Given the description of an element on the screen output the (x, y) to click on. 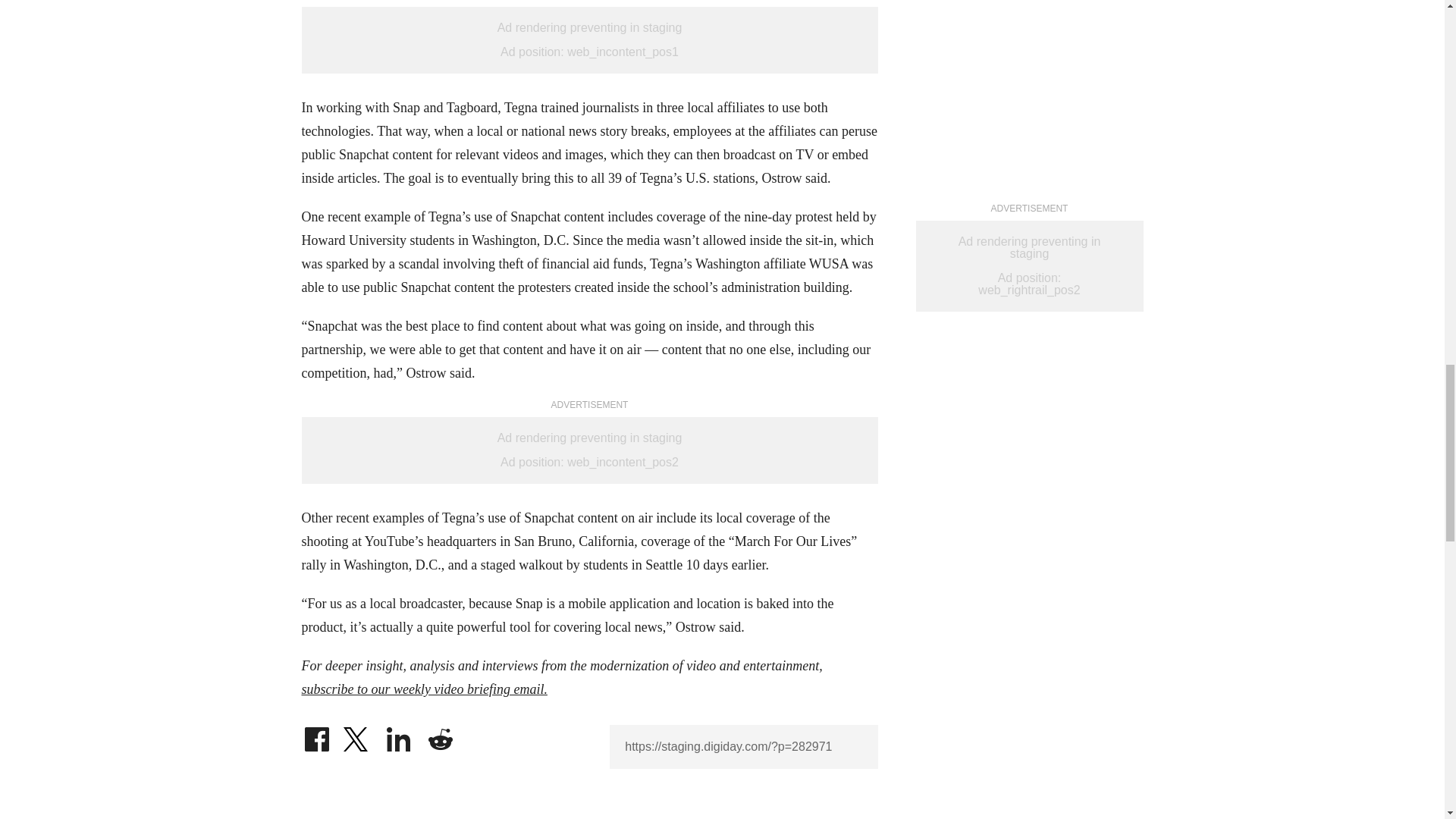
Share on Twitter (357, 735)
Share on LinkedIn (398, 735)
Share on Reddit (440, 735)
Share on Facebook (316, 735)
